Given the description of an element on the screen output the (x, y) to click on. 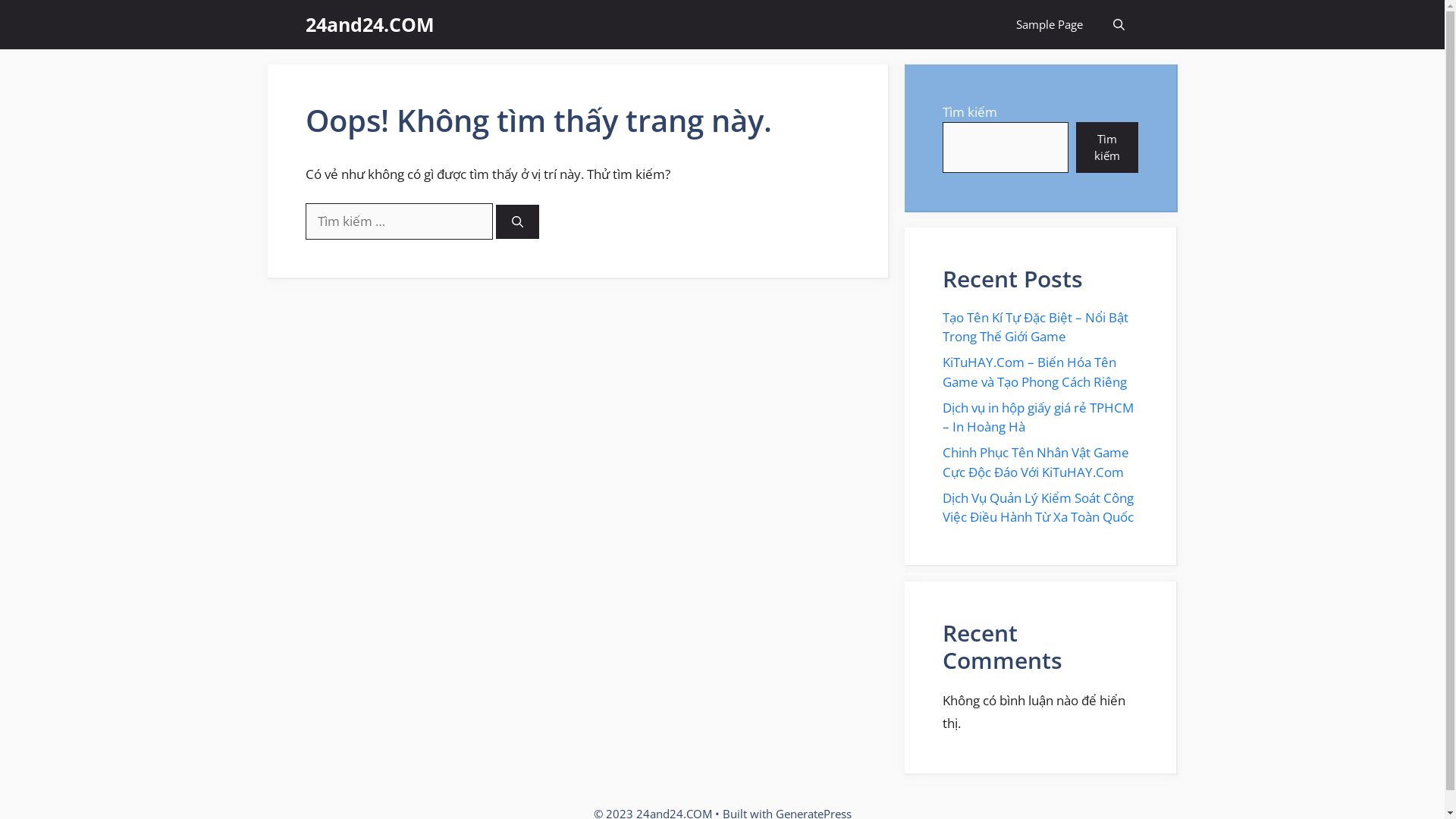
24and24.COM Element type: text (368, 24)
Sample Page Element type: text (1049, 24)
